Given the description of an element on the screen output the (x, y) to click on. 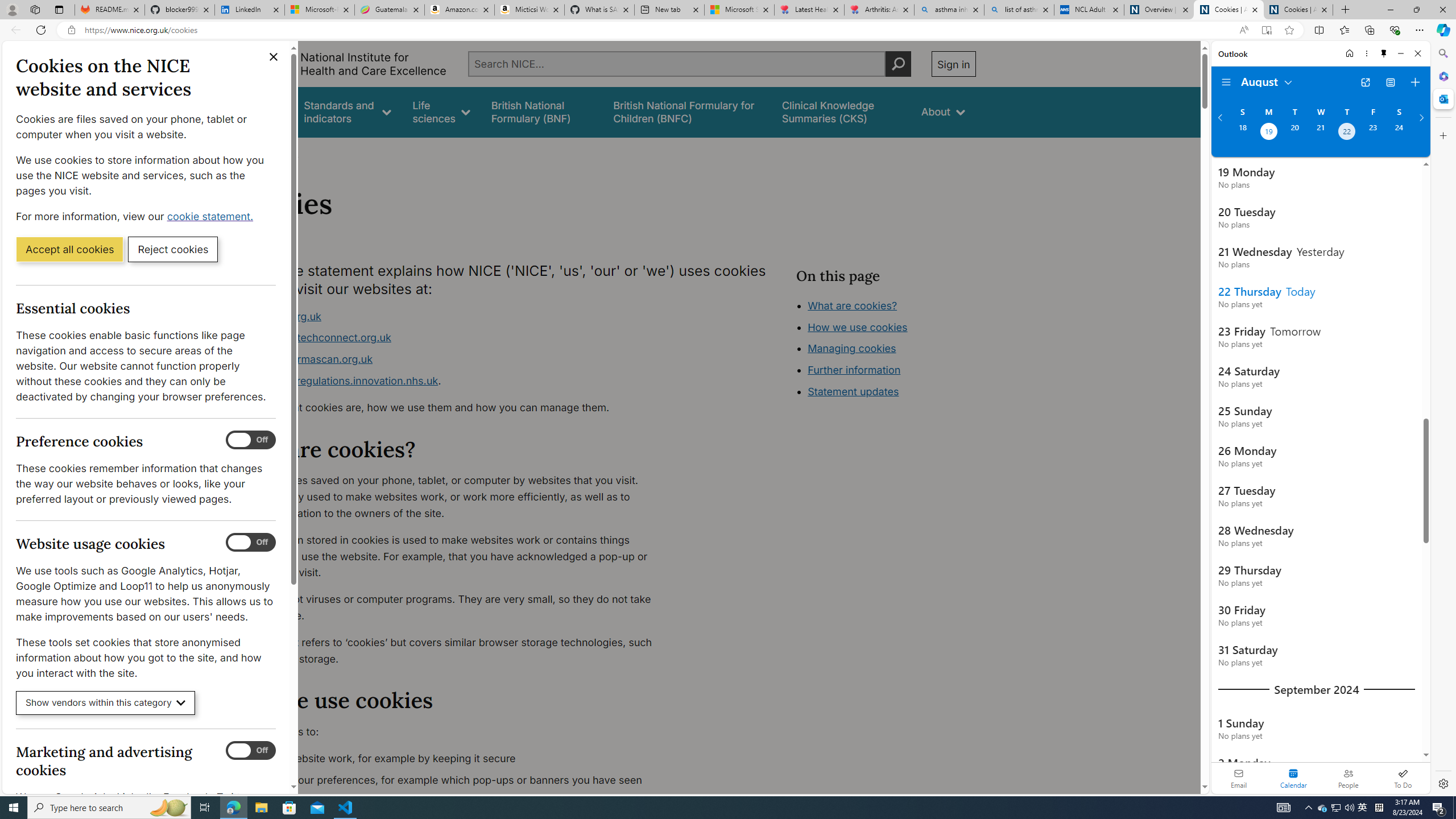
Managing cookies (852, 348)
Perform search (898, 63)
Friday, August 23, 2024.  (1372, 132)
